Given the description of an element on the screen output the (x, y) to click on. 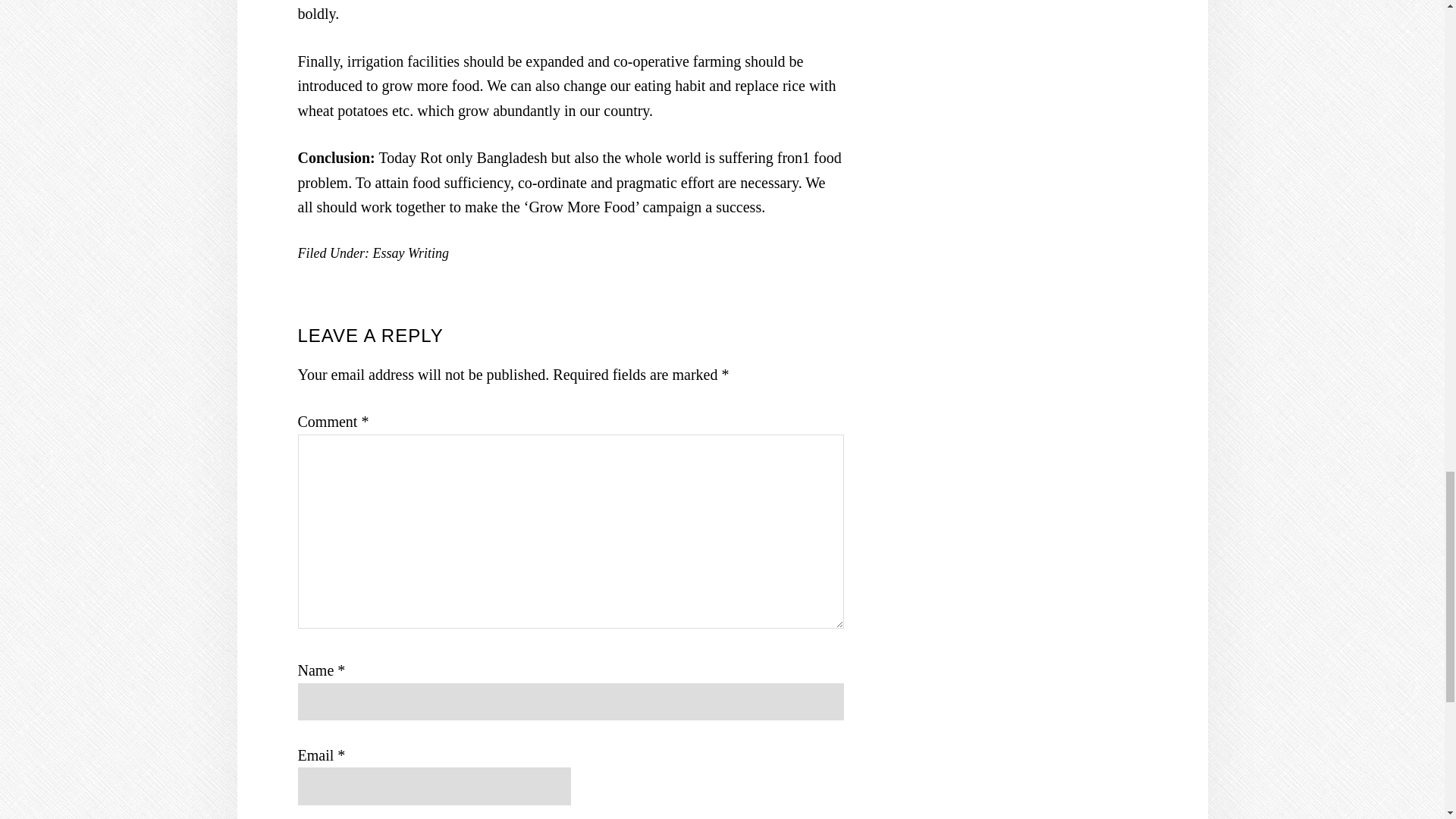
Essay Writing (410, 253)
